Given the description of an element on the screen output the (x, y) to click on. 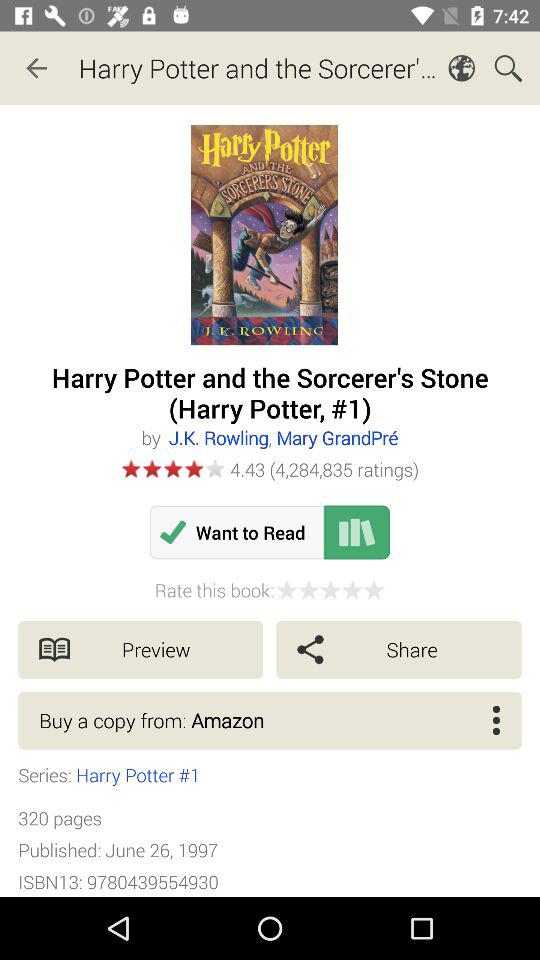
read the article (357, 532)
